Given the description of an element on the screen output the (x, y) to click on. 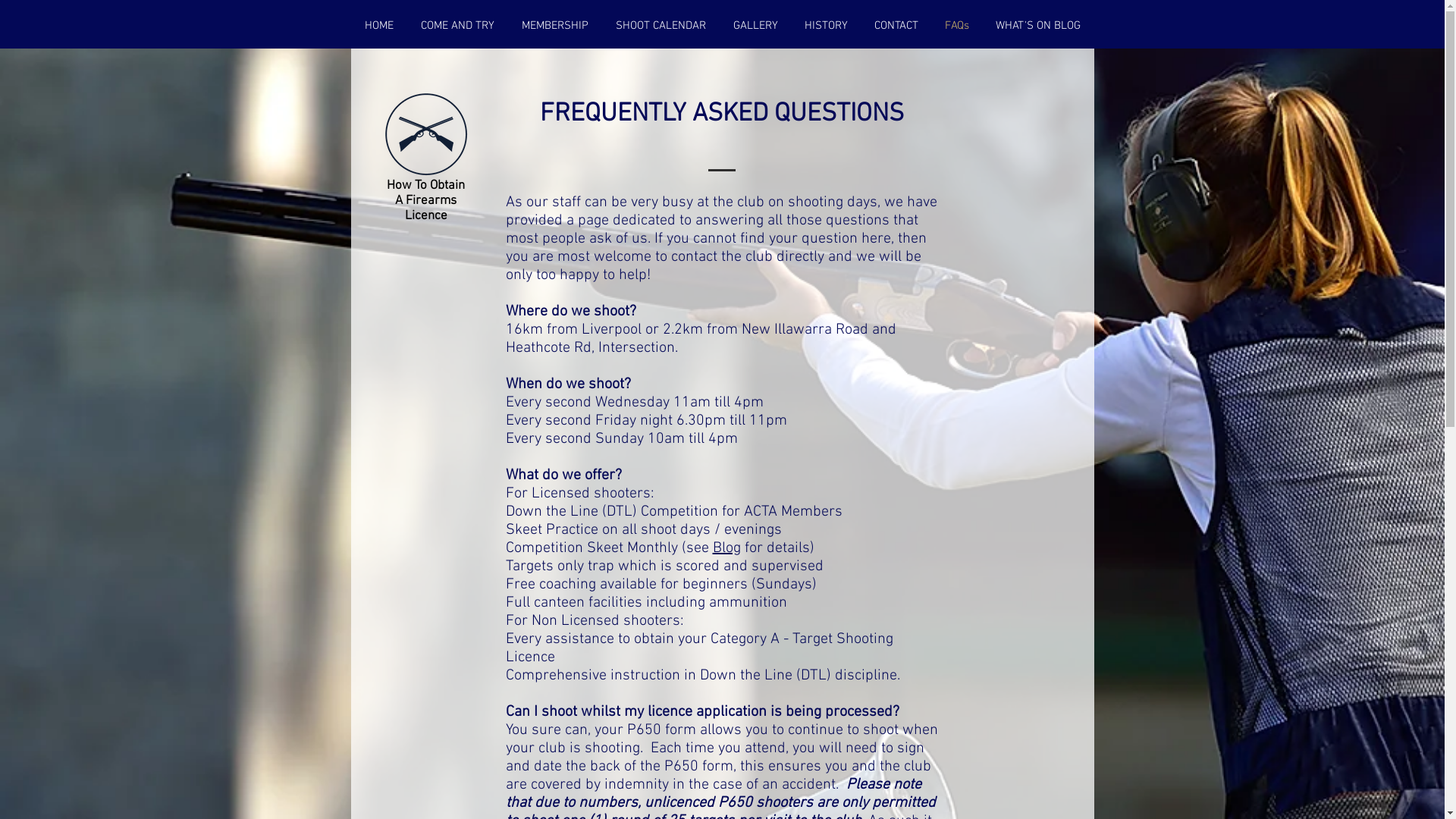
SHOOT CALENDAR Element type: text (660, 25)
GALLERY Element type: text (754, 25)
MEMBERSHIP Element type: text (555, 25)
COME AND TRY Element type: text (456, 25)
Blog Element type: text (726, 548)
HISTORY Element type: text (826, 25)
HOME Element type: text (378, 25)
FAQs Element type: text (956, 25)
CONTACT Element type: text (896, 25)
WHAT'S ON BLOG Element type: text (1038, 25)
